Given the description of an element on the screen output the (x, y) to click on. 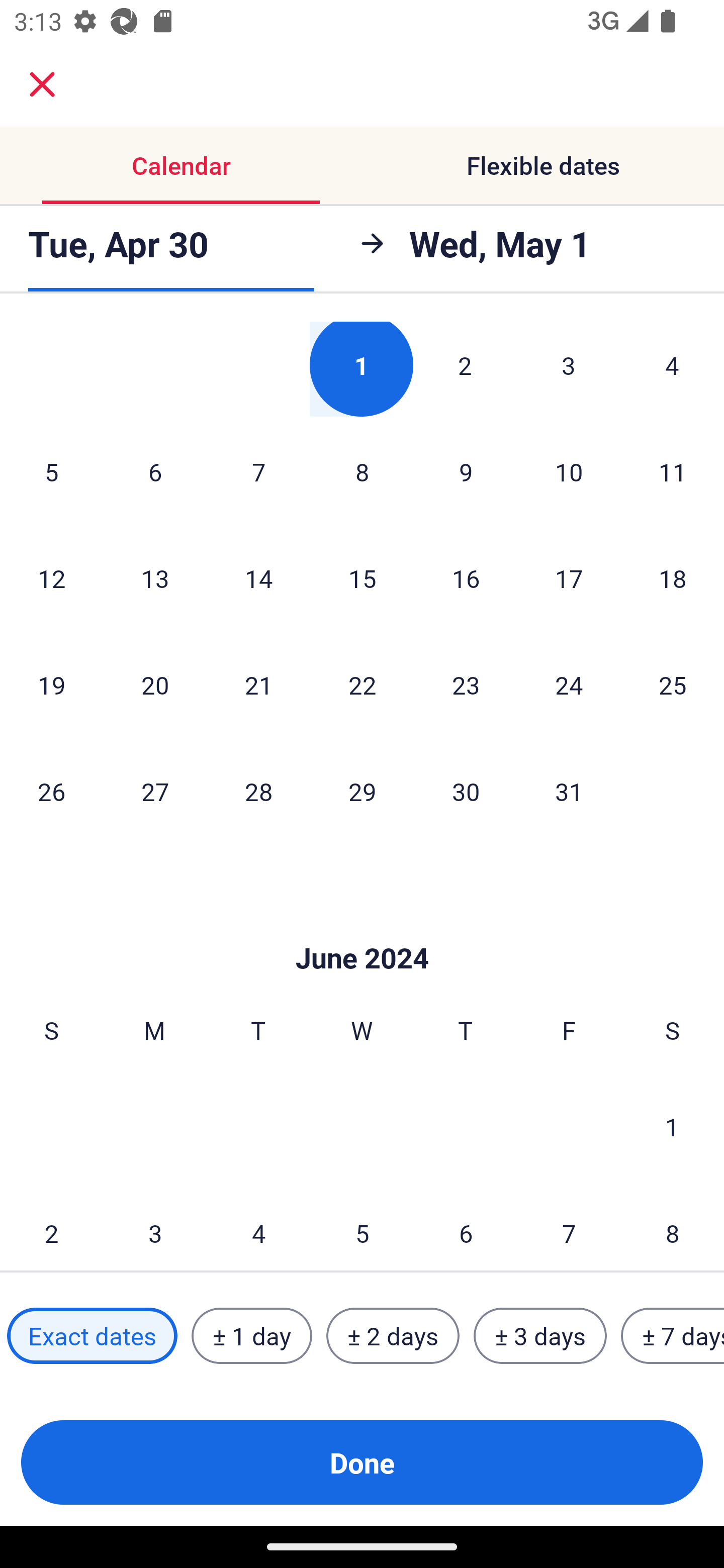
close. (42, 84)
Flexible dates (542, 164)
2 Thursday, May 2, 2024 (464, 369)
3 Friday, May 3, 2024 (568, 369)
4 Saturday, May 4, 2024 (672, 369)
5 Sunday, May 5, 2024 (51, 471)
6 Monday, May 6, 2024 (155, 471)
7 Tuesday, May 7, 2024 (258, 471)
8 Wednesday, May 8, 2024 (362, 471)
9 Thursday, May 9, 2024 (465, 471)
10 Friday, May 10, 2024 (569, 471)
11 Saturday, May 11, 2024 (672, 471)
12 Sunday, May 12, 2024 (51, 578)
13 Monday, May 13, 2024 (155, 578)
14 Tuesday, May 14, 2024 (258, 578)
15 Wednesday, May 15, 2024 (362, 578)
16 Thursday, May 16, 2024 (465, 578)
17 Friday, May 17, 2024 (569, 578)
18 Saturday, May 18, 2024 (672, 578)
19 Sunday, May 19, 2024 (51, 684)
20 Monday, May 20, 2024 (155, 684)
21 Tuesday, May 21, 2024 (258, 684)
22 Wednesday, May 22, 2024 (362, 684)
23 Thursday, May 23, 2024 (465, 684)
24 Friday, May 24, 2024 (569, 684)
25 Saturday, May 25, 2024 (672, 684)
26 Sunday, May 26, 2024 (51, 791)
27 Monday, May 27, 2024 (155, 791)
28 Tuesday, May 28, 2024 (258, 791)
29 Wednesday, May 29, 2024 (362, 791)
30 Thursday, May 30, 2024 (465, 791)
31 Friday, May 31, 2024 (569, 791)
Skip to Done (362, 927)
1 Saturday, June 1, 2024 (672, 1126)
2 Sunday, June 2, 2024 (51, 1226)
3 Monday, June 3, 2024 (155, 1226)
4 Tuesday, June 4, 2024 (258, 1226)
5 Wednesday, June 5, 2024 (362, 1226)
6 Thursday, June 6, 2024 (465, 1226)
7 Friday, June 7, 2024 (569, 1226)
8 Saturday, June 8, 2024 (672, 1226)
Exact dates (92, 1335)
± 1 day (251, 1335)
± 2 days (392, 1335)
± 3 days (539, 1335)
± 7 days (672, 1335)
Done (361, 1462)
